Given the description of an element on the screen output the (x, y) to click on. 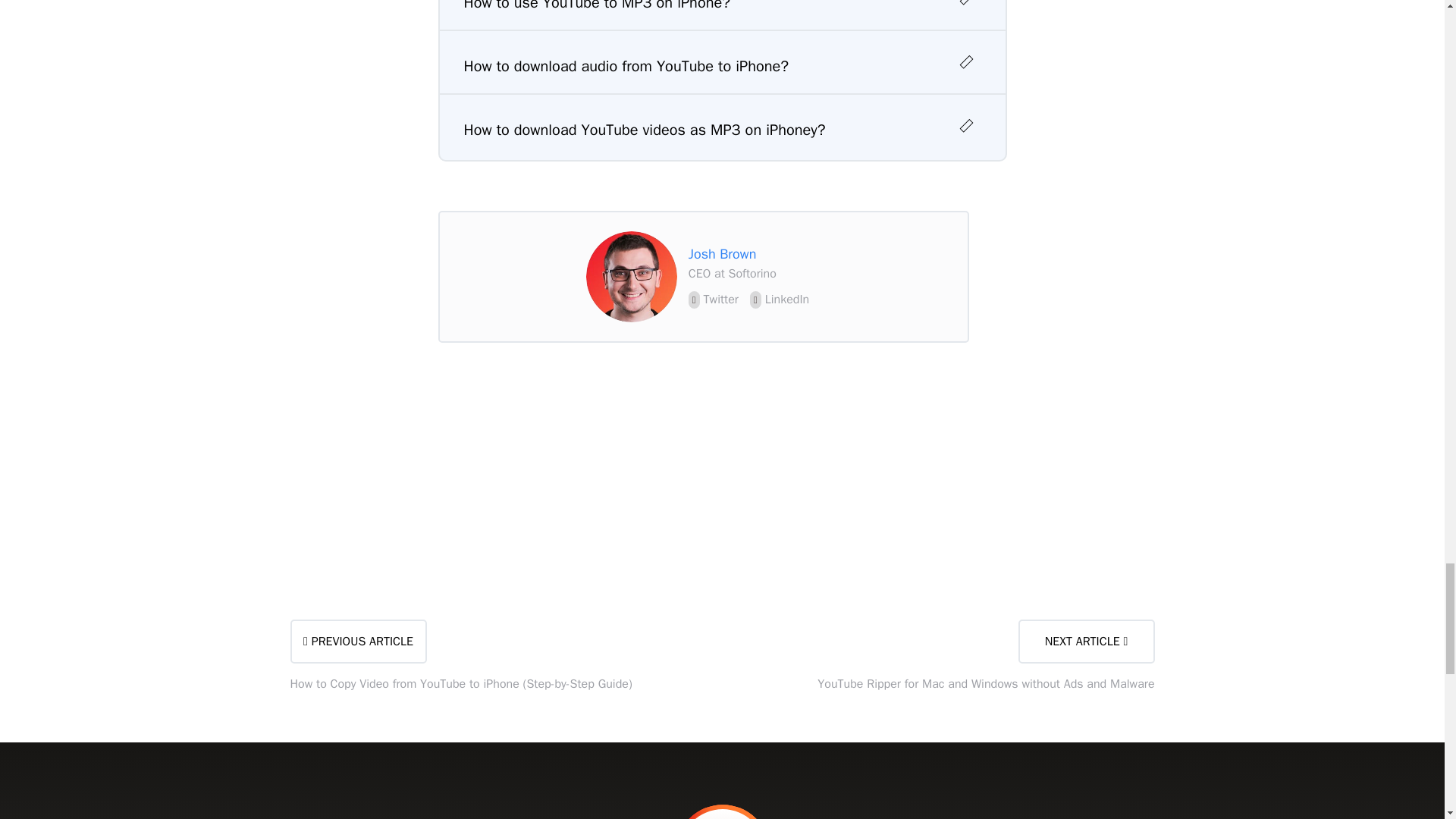
Josh Brown (722, 254)
Twitter (713, 299)
LinkedIn (779, 299)
Josh Brown (631, 276)
